Given the description of an element on the screen output the (x, y) to click on. 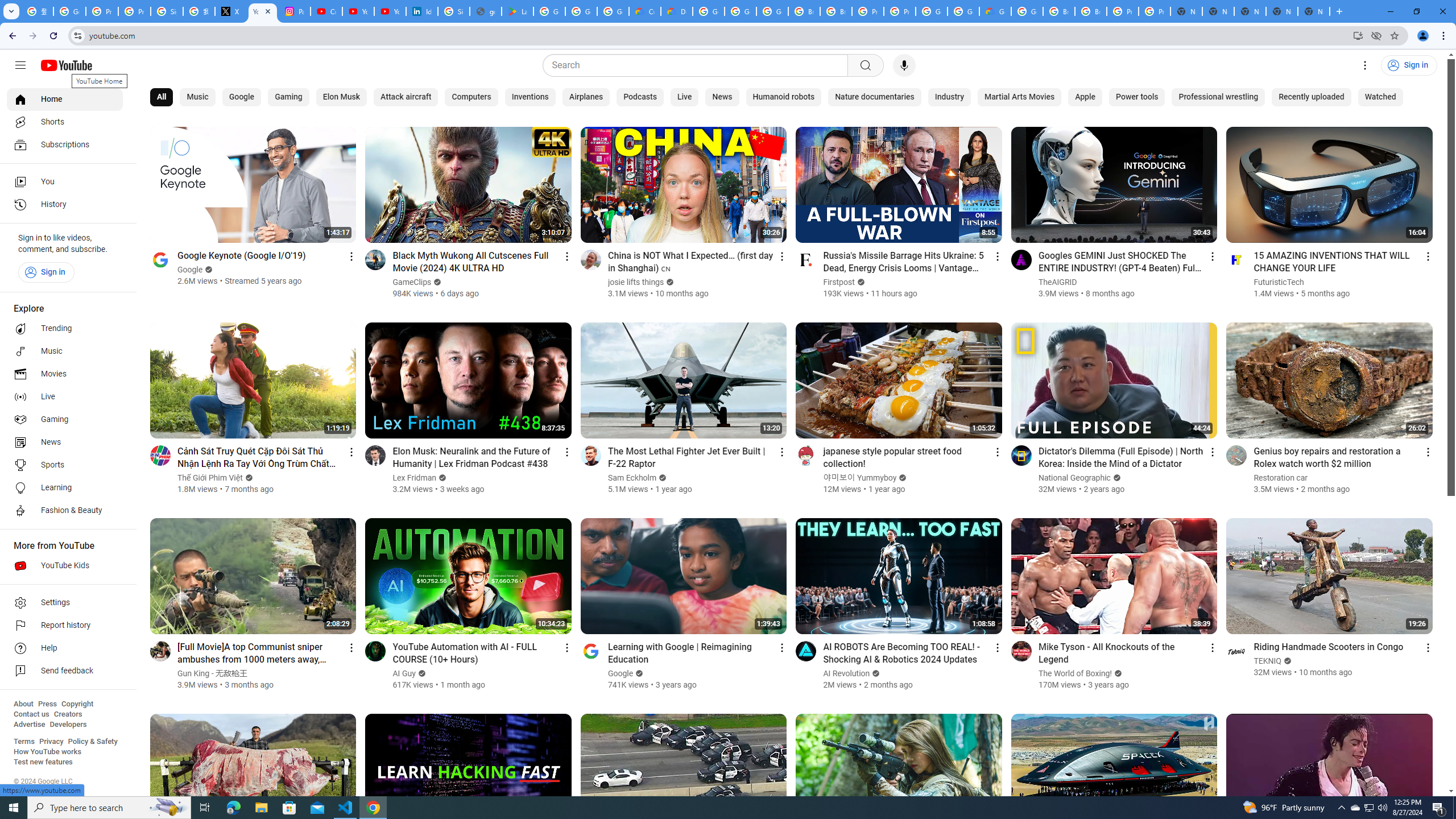
Subscriptions (64, 144)
Movies (64, 373)
Google Cloud Platform (1027, 11)
Live (683, 97)
Press (46, 703)
Last Shelter: Survival - Apps on Google Play (517, 11)
How YouTube works (47, 751)
Browse Chrome as a guest - Computer - Google Chrome Help (804, 11)
Martial Arts Movies (1018, 97)
The World of Boxing! (1075, 673)
